Given the description of an element on the screen output the (x, y) to click on. 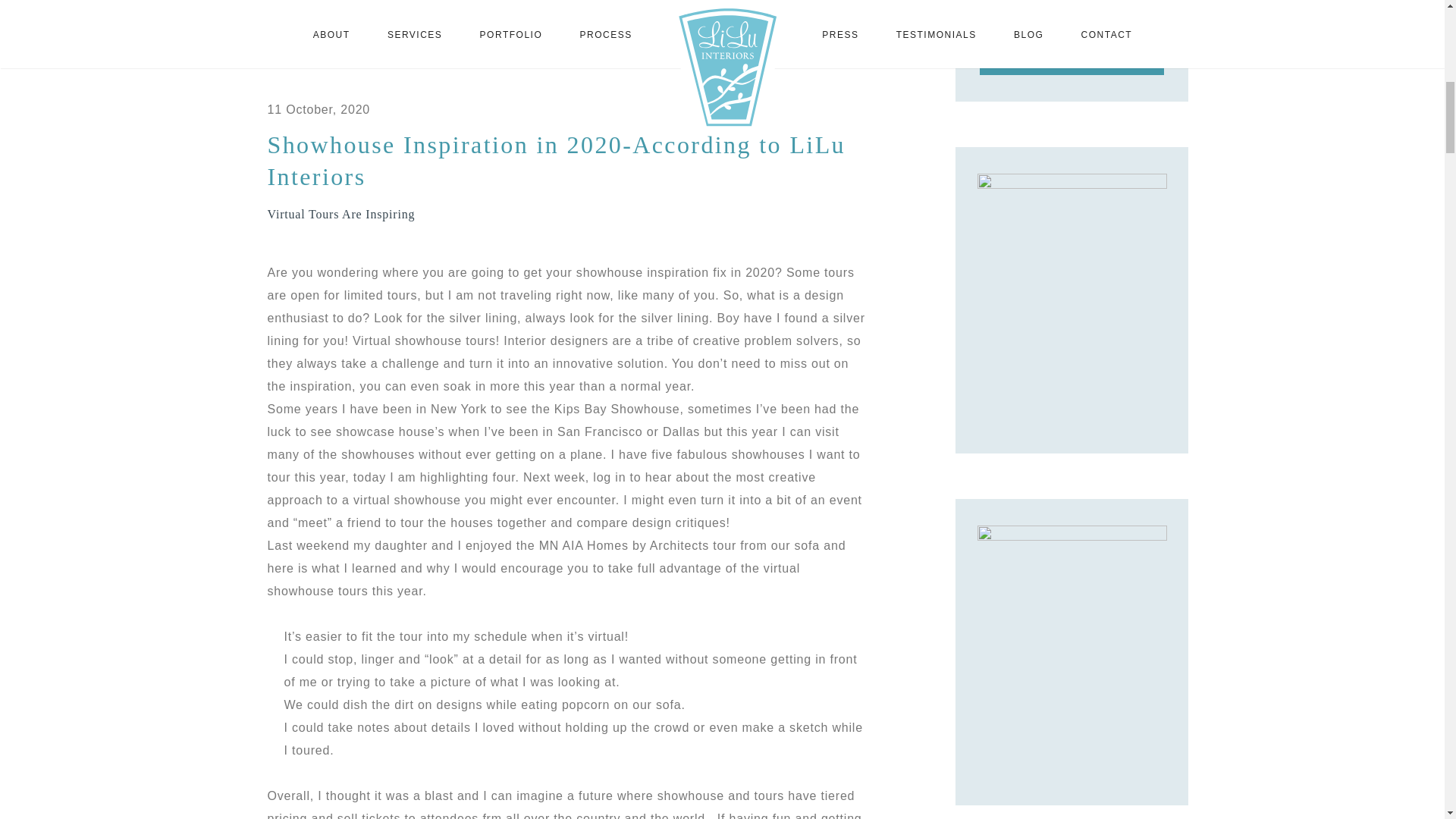
Subscribe (1071, 56)
